Given the description of an element on the screen output the (x, y) to click on. 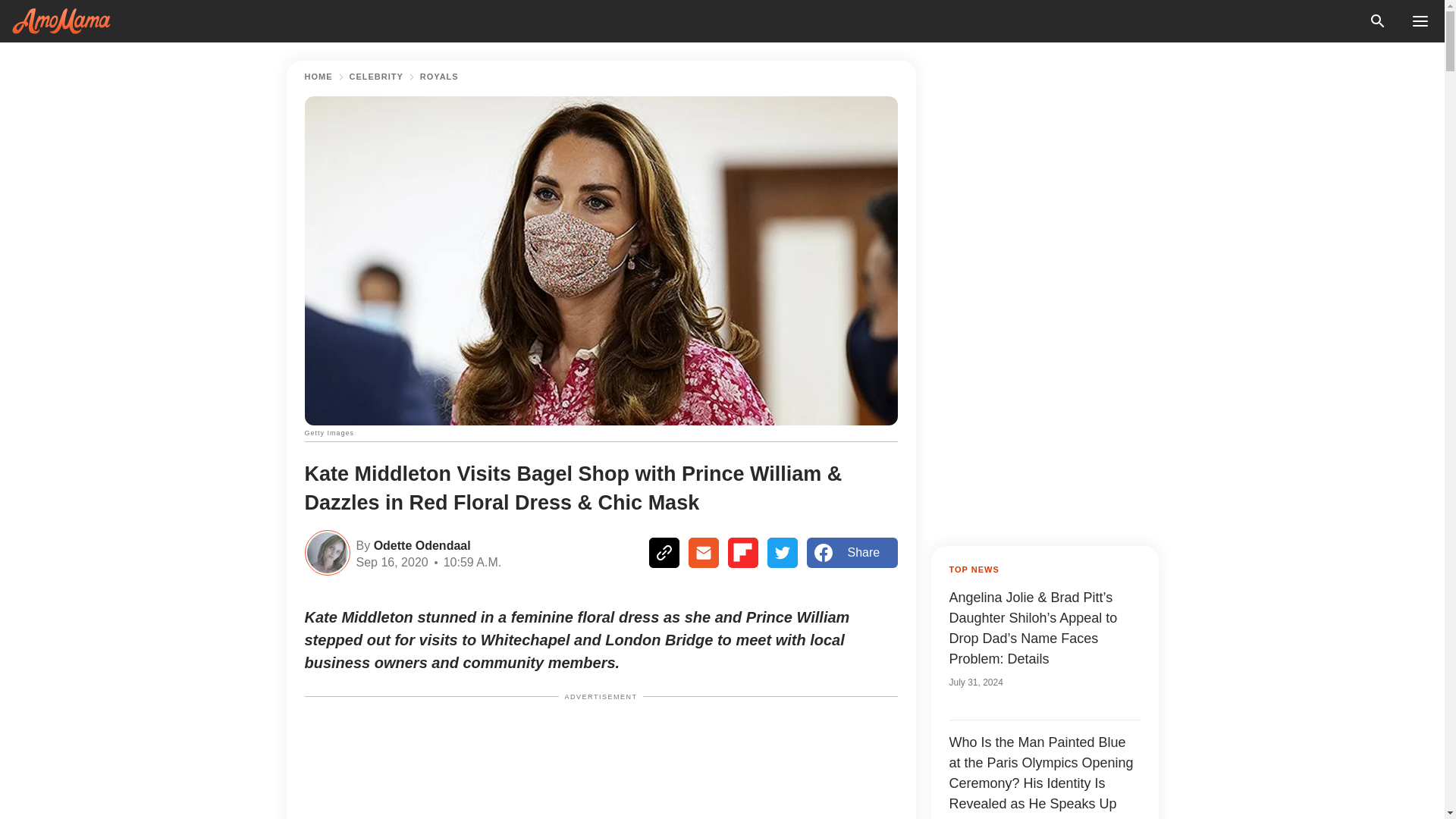
Odette Odendaal (419, 544)
HOME (318, 76)
ROYALS (439, 76)
CELEBRITY (376, 76)
